Given the description of an element on the screen output the (x, y) to click on. 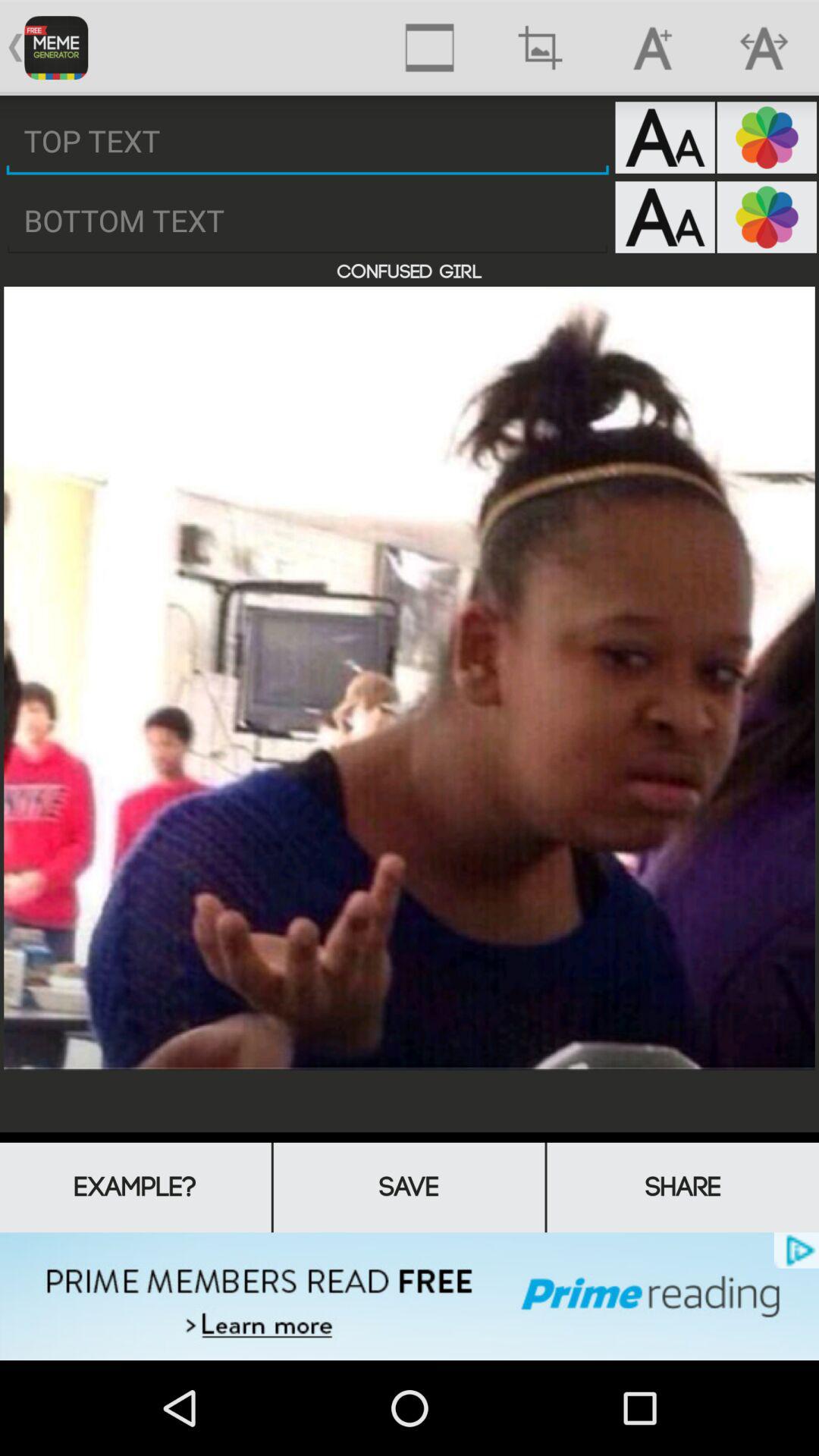
type top meme (307, 141)
